Given the description of an element on the screen output the (x, y) to click on. 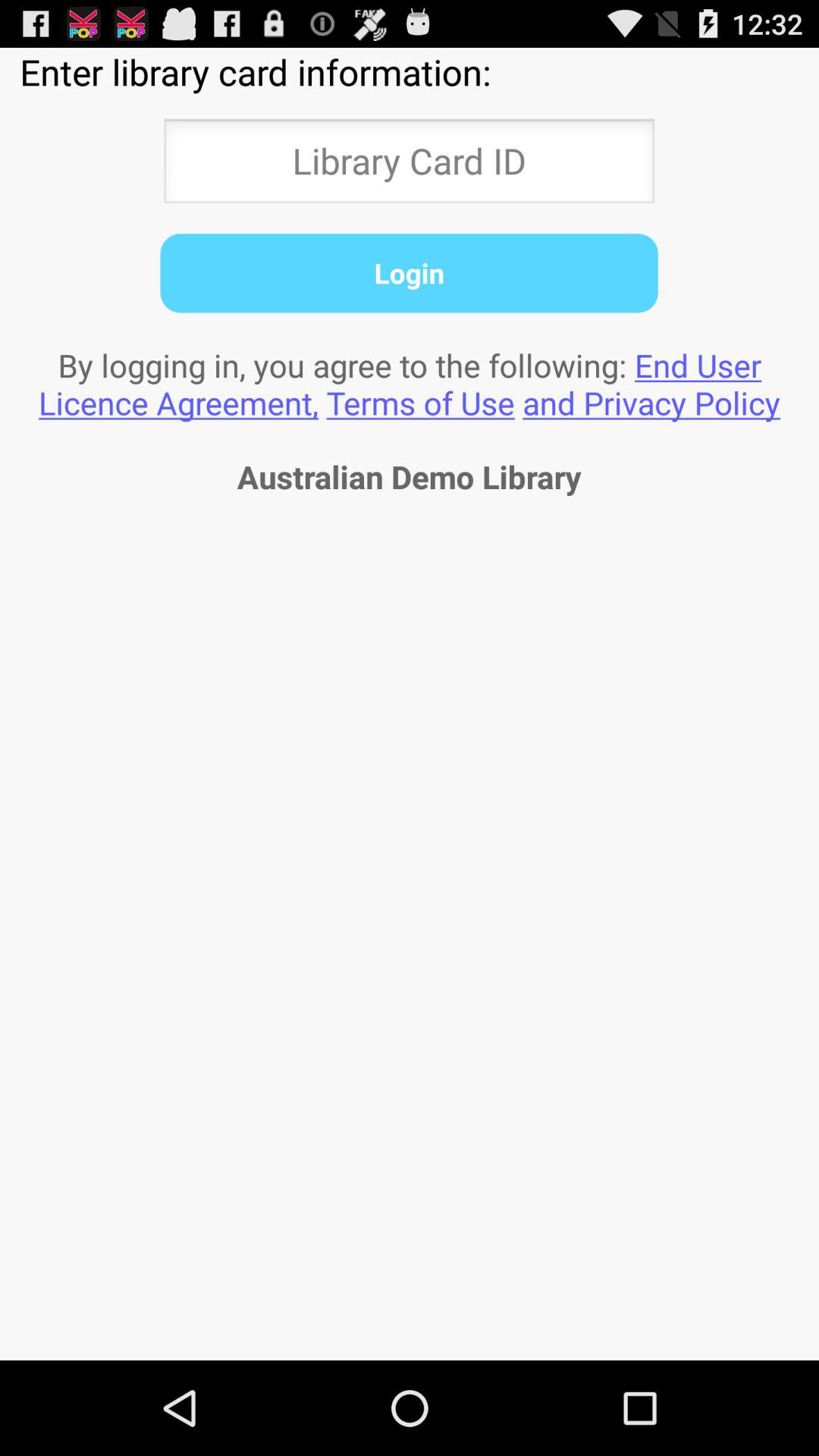
press the item below login button (409, 383)
